Given the description of an element on the screen output the (x, y) to click on. 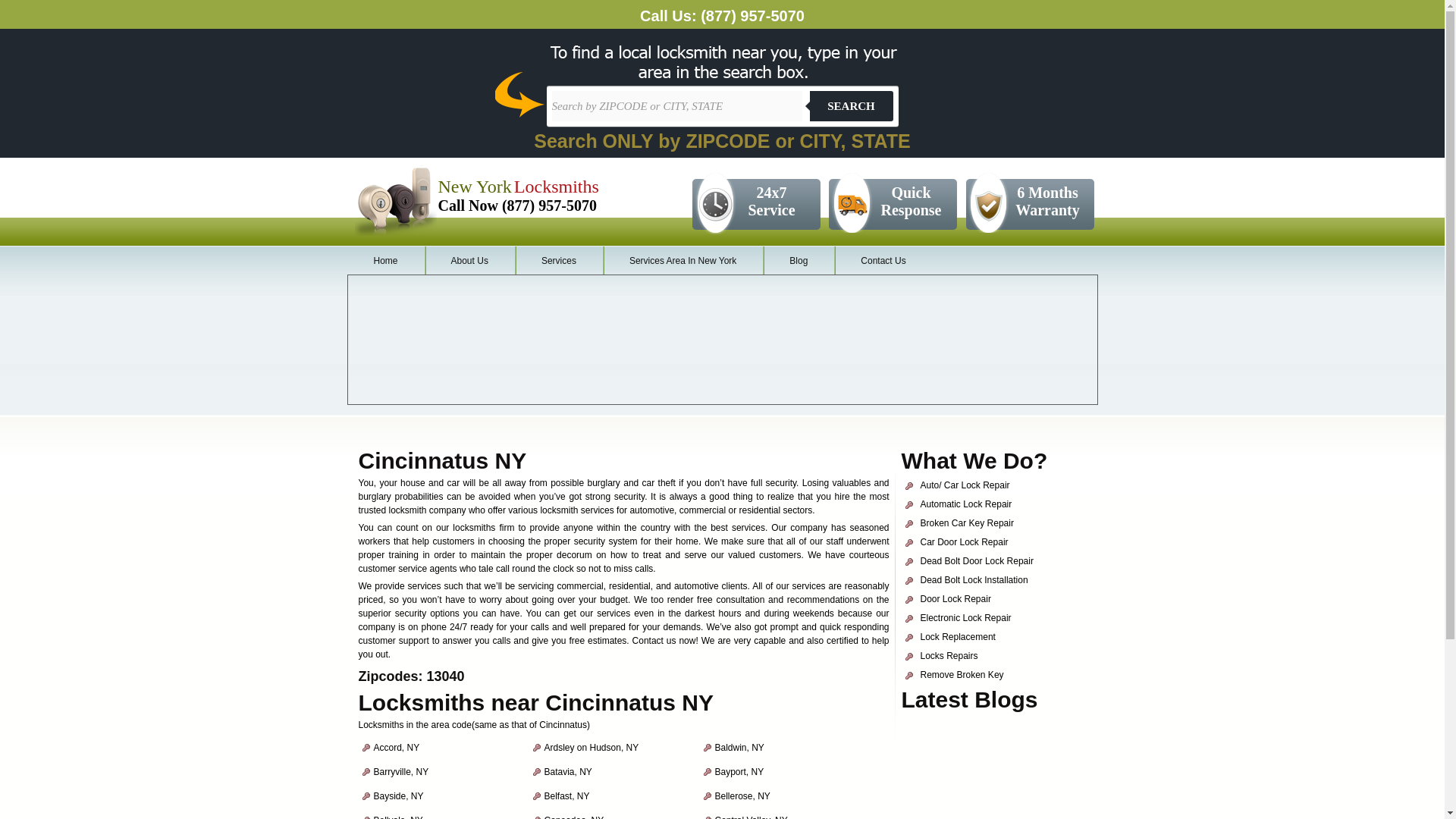
Blog (798, 260)
Baldwin, NY (738, 747)
Bayport, NY (738, 771)
SEARCH (851, 105)
Accord, NY (395, 747)
Bellvale, NY (397, 816)
Bellerose, NY (742, 796)
Services (558, 260)
Central Valley, NY (750, 816)
Barryville, NY (400, 771)
Batavia, NY (568, 771)
Contact Us (882, 260)
